Given the description of an element on the screen output the (x, y) to click on. 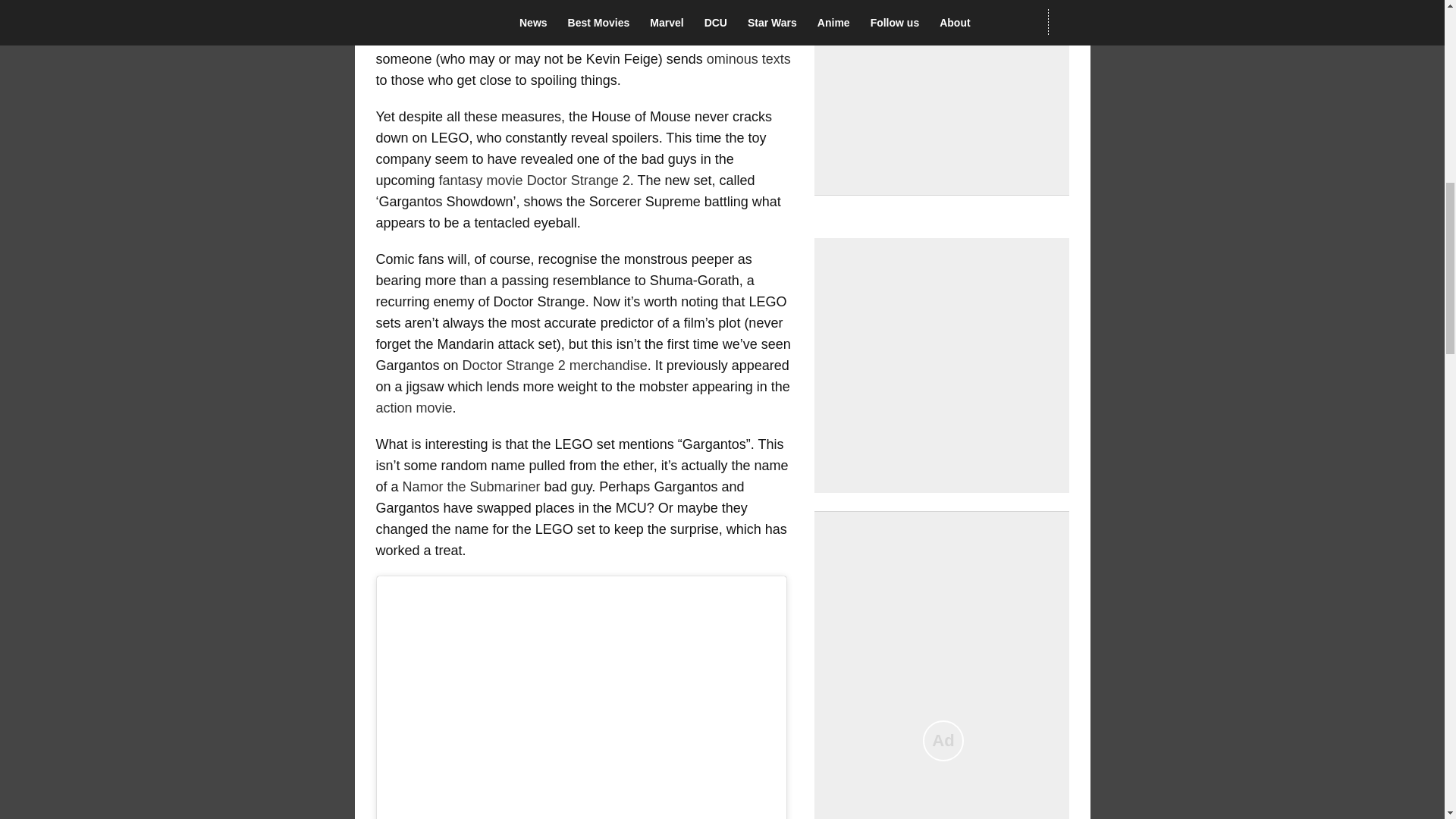
fantasy movie (480, 180)
Doctor Strange 2 (578, 180)
Marvel Cinematic Universe (564, 12)
secret spoiler police (683, 16)
ominous texts (748, 58)
Doctor Strange 2 merchandise (555, 365)
